Given the description of an element on the screen output the (x, y) to click on. 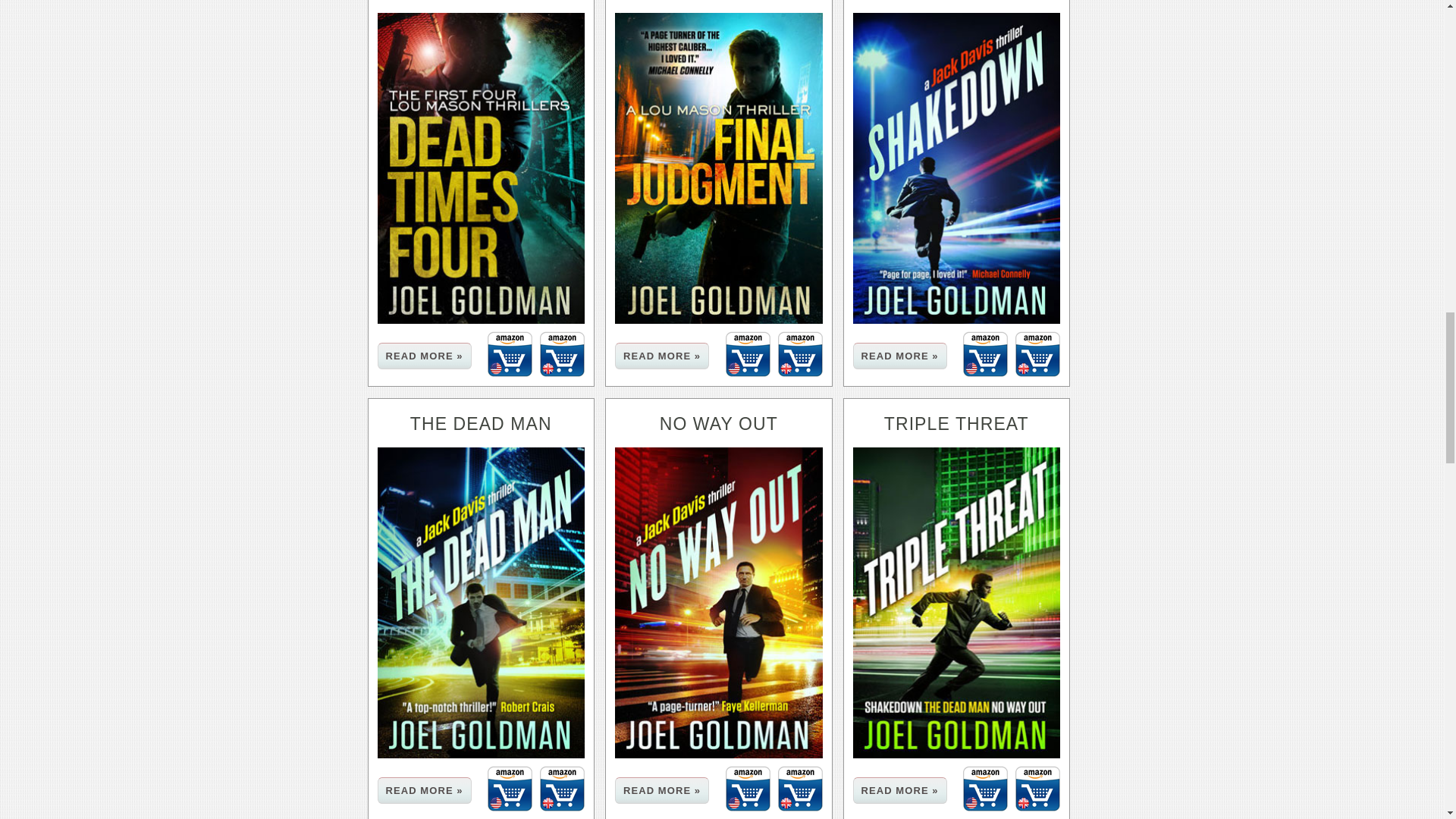
More about The Dead Man (424, 790)
More about Final Judgment (661, 356)
More about No Way Out (661, 790)
More about Triple Threat (898, 790)
More about Dead Times Four (424, 356)
More about Shakedown (898, 356)
